Given the description of an element on the screen output the (x, y) to click on. 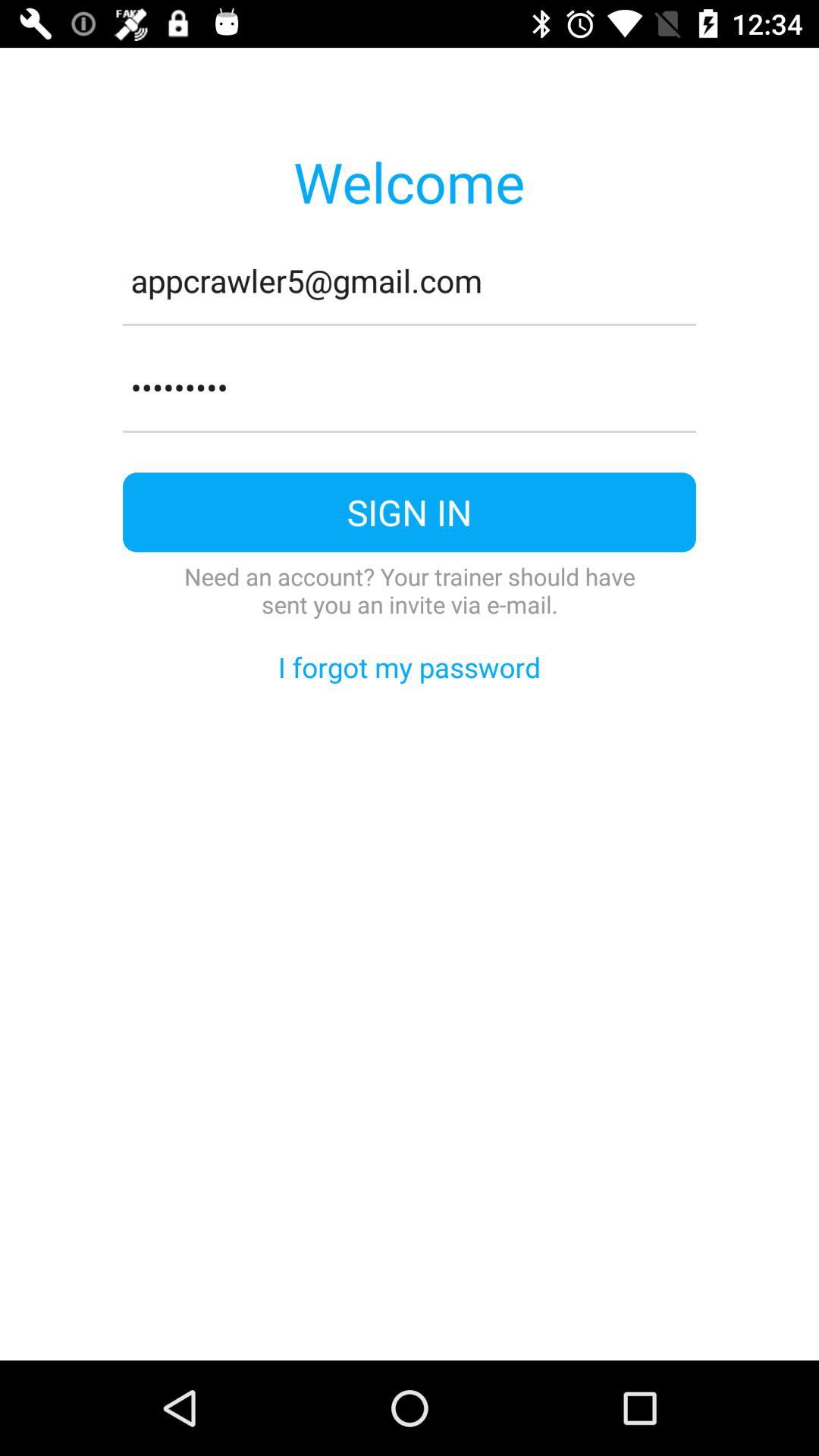
press sign in item (409, 512)
